Given the description of an element on the screen output the (x, y) to click on. 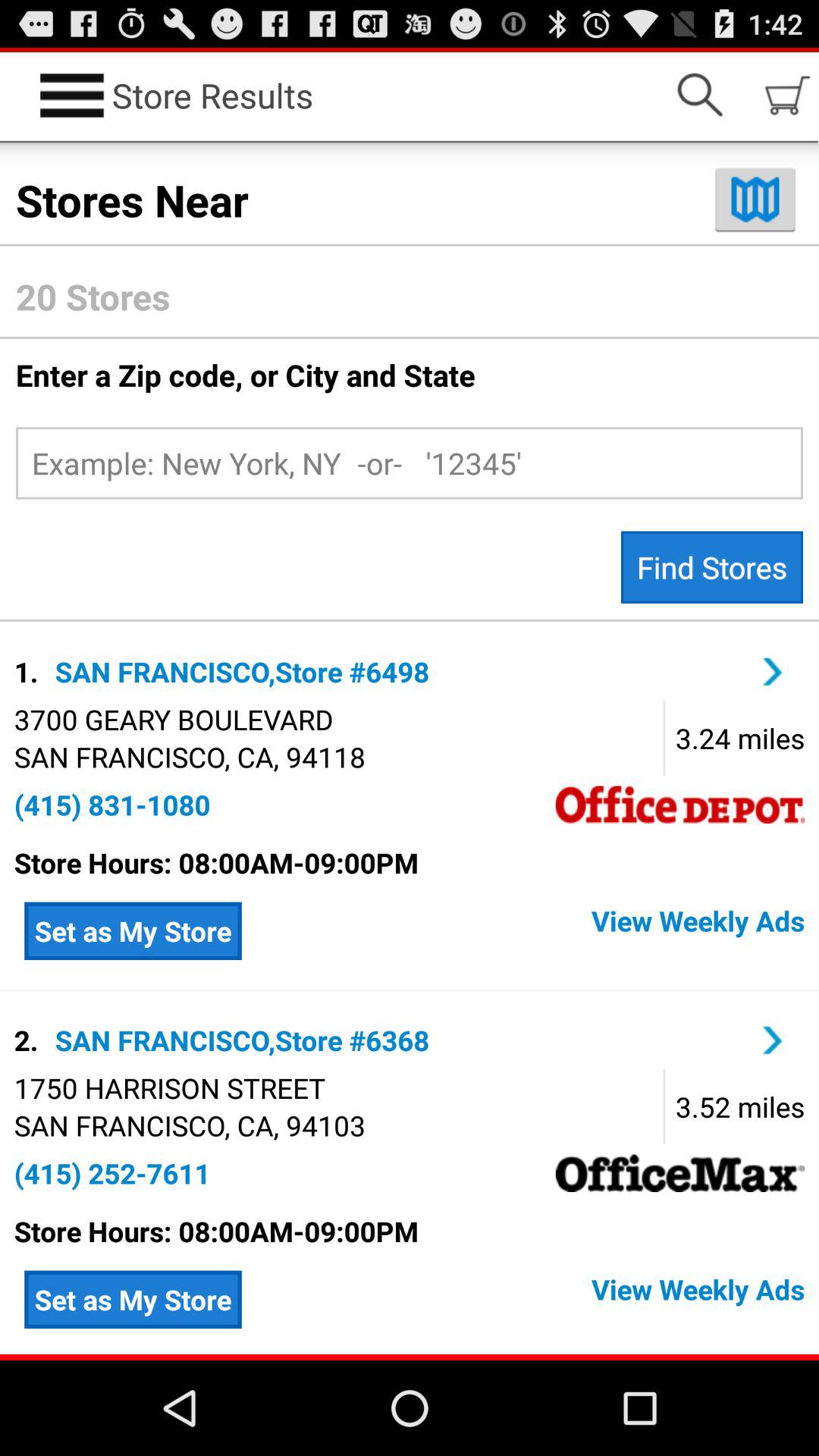
flip until 1750 harrison street app (169, 1087)
